Given the description of an element on the screen output the (x, y) to click on. 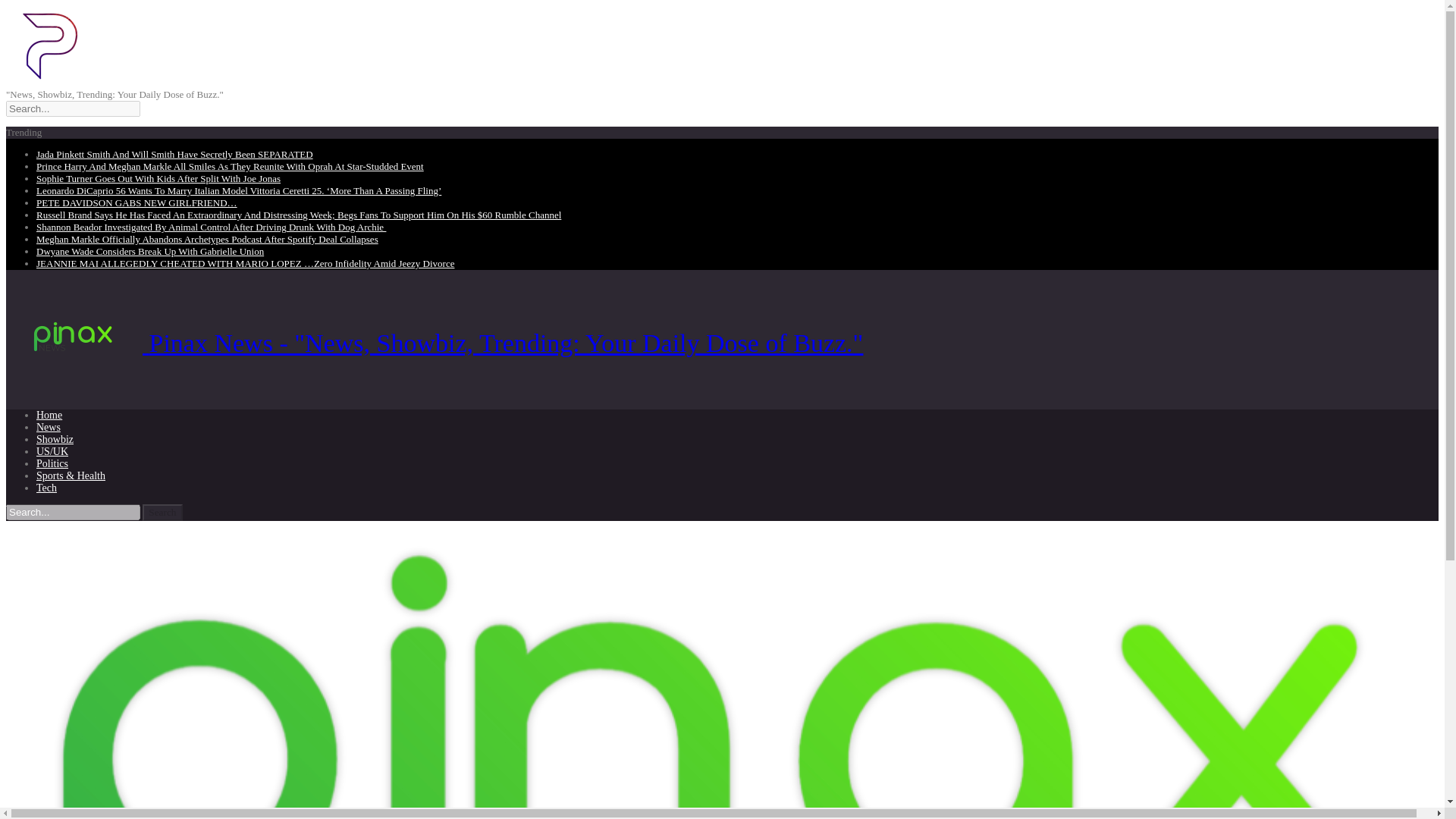
Dwyane Wade Considers Break Up With Gabrielle Union (149, 251)
News (48, 427)
Search (162, 512)
Search for: (72, 512)
Home (49, 414)
Search (162, 512)
Tech (46, 487)
Sophie Turner Goes Out With Kids After Split With Joe Jonas (158, 178)
Search (162, 512)
Politics (52, 463)
Showbiz (55, 439)
